Given the description of an element on the screen output the (x, y) to click on. 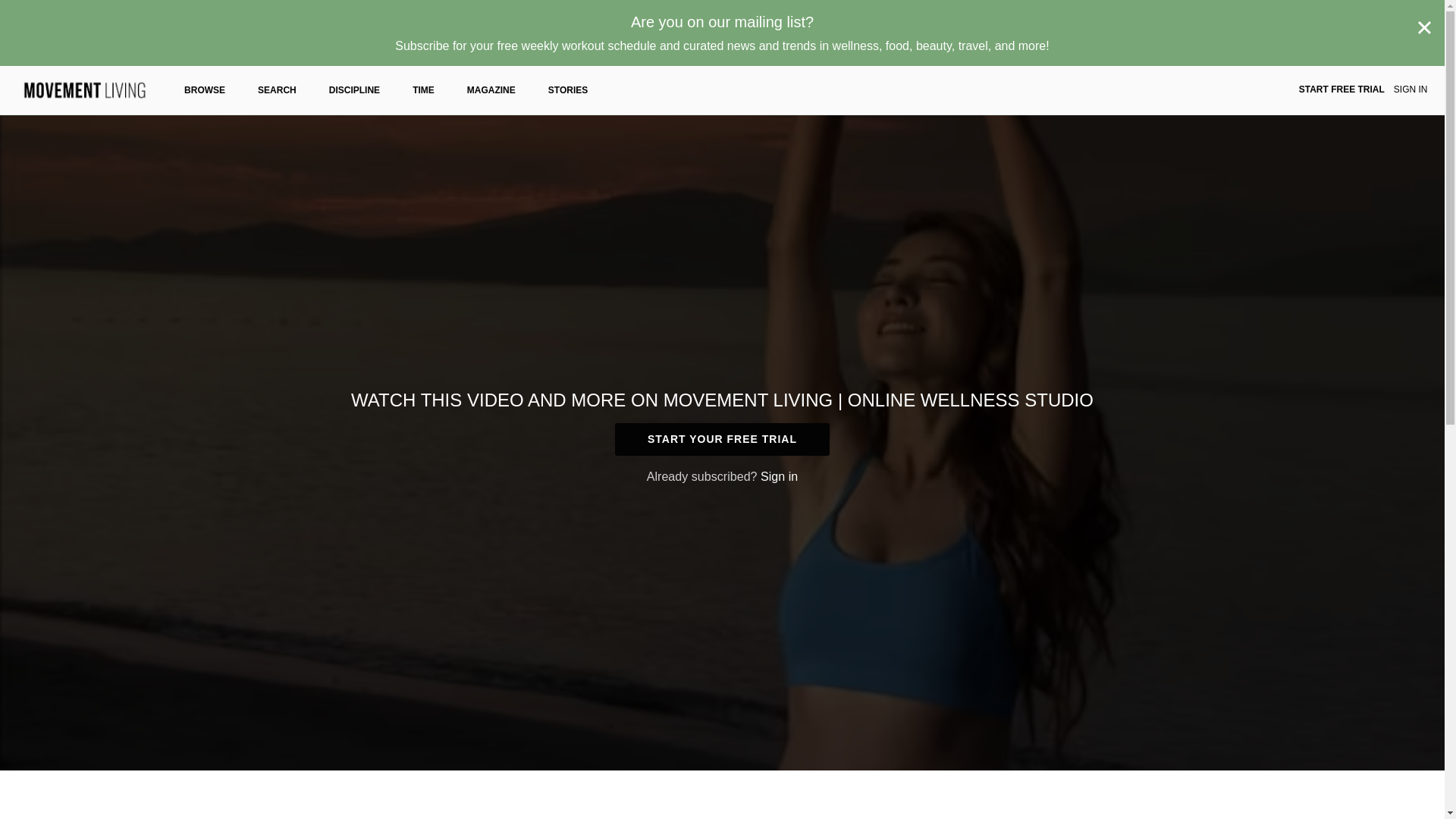
MAGAZINE (491, 90)
DISCIPLINE (354, 90)
SEARCH (277, 90)
BROWSE (204, 90)
TIME (422, 90)
Sign in (778, 476)
START YOUR FREE TRIAL (721, 439)
START FREE TRIAL (1341, 90)
SIGN IN (1410, 90)
STORIES (568, 90)
Skip to main content (48, 7)
